Given the description of an element on the screen output the (x, y) to click on. 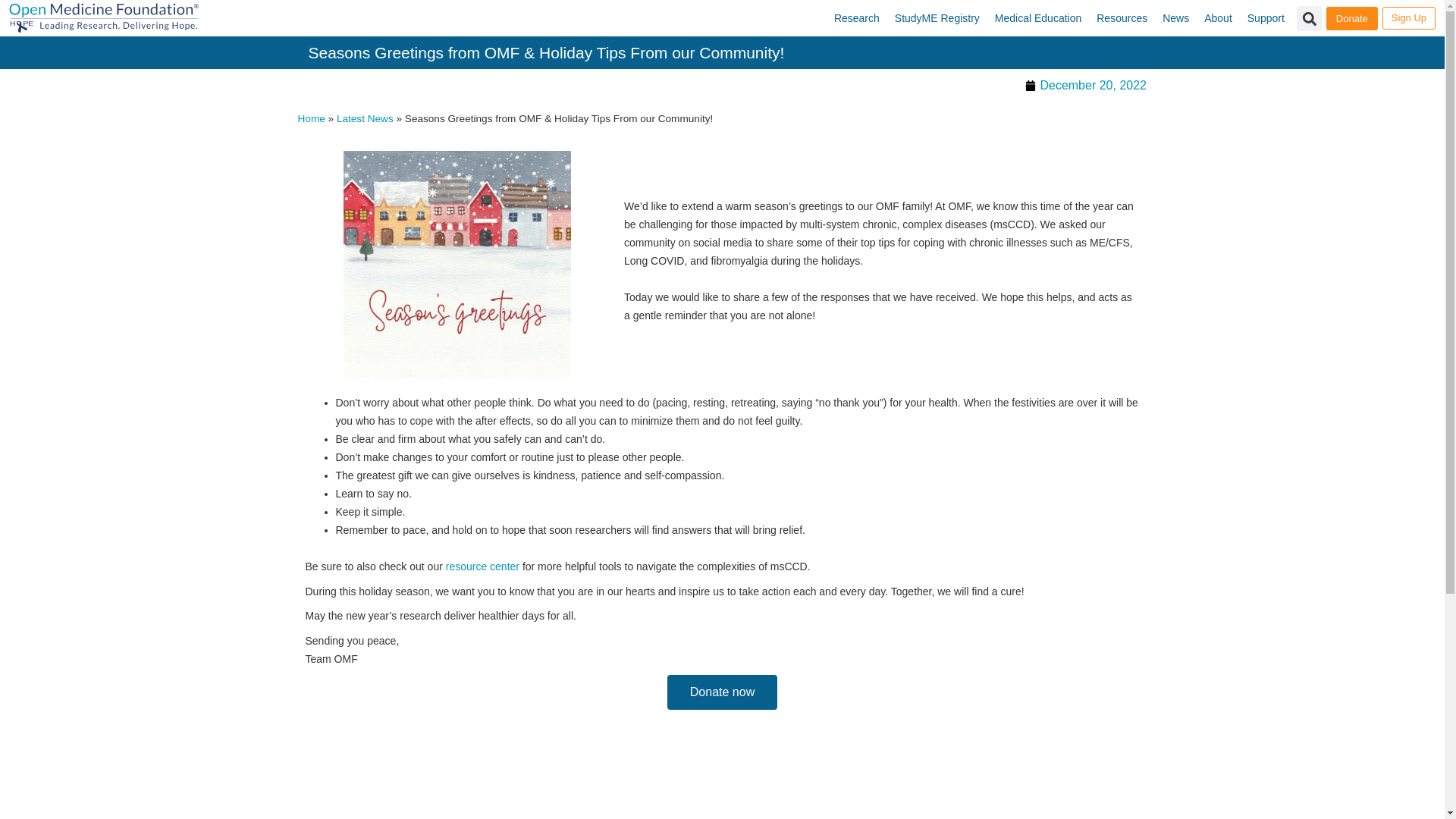
Resources (1121, 18)
About (1218, 18)
Medical Education (1038, 18)
Research (856, 18)
News (1175, 18)
StudyME Registry (936, 18)
